Given the description of an element on the screen output the (x, y) to click on. 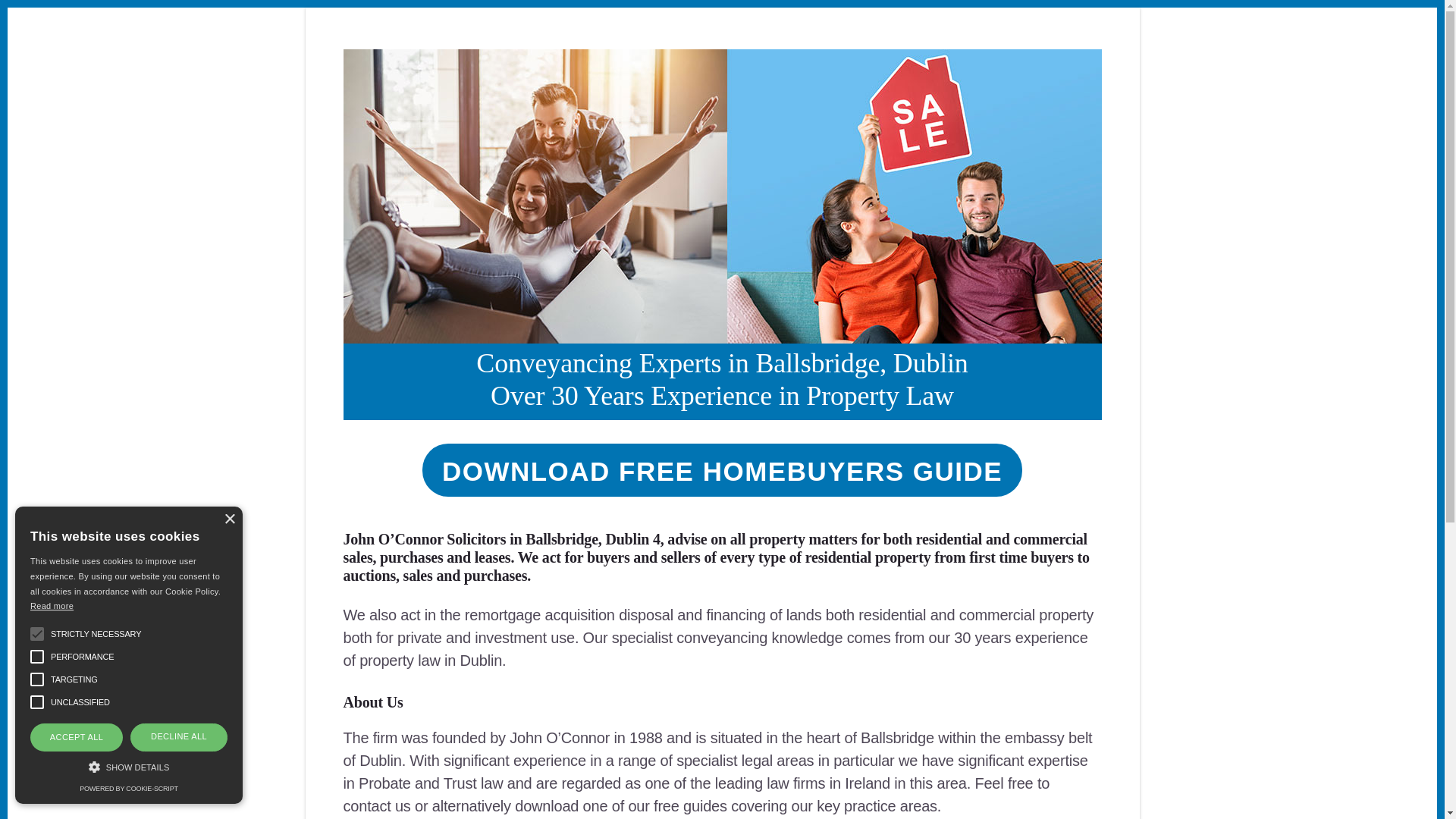
POWERED BY COOKIE-SCRIPT (128, 788)
Read more (52, 605)
DOWNLOAD FREE HOMEBUYERS GUIDE (722, 469)
